Given the description of an element on the screen output the (x, y) to click on. 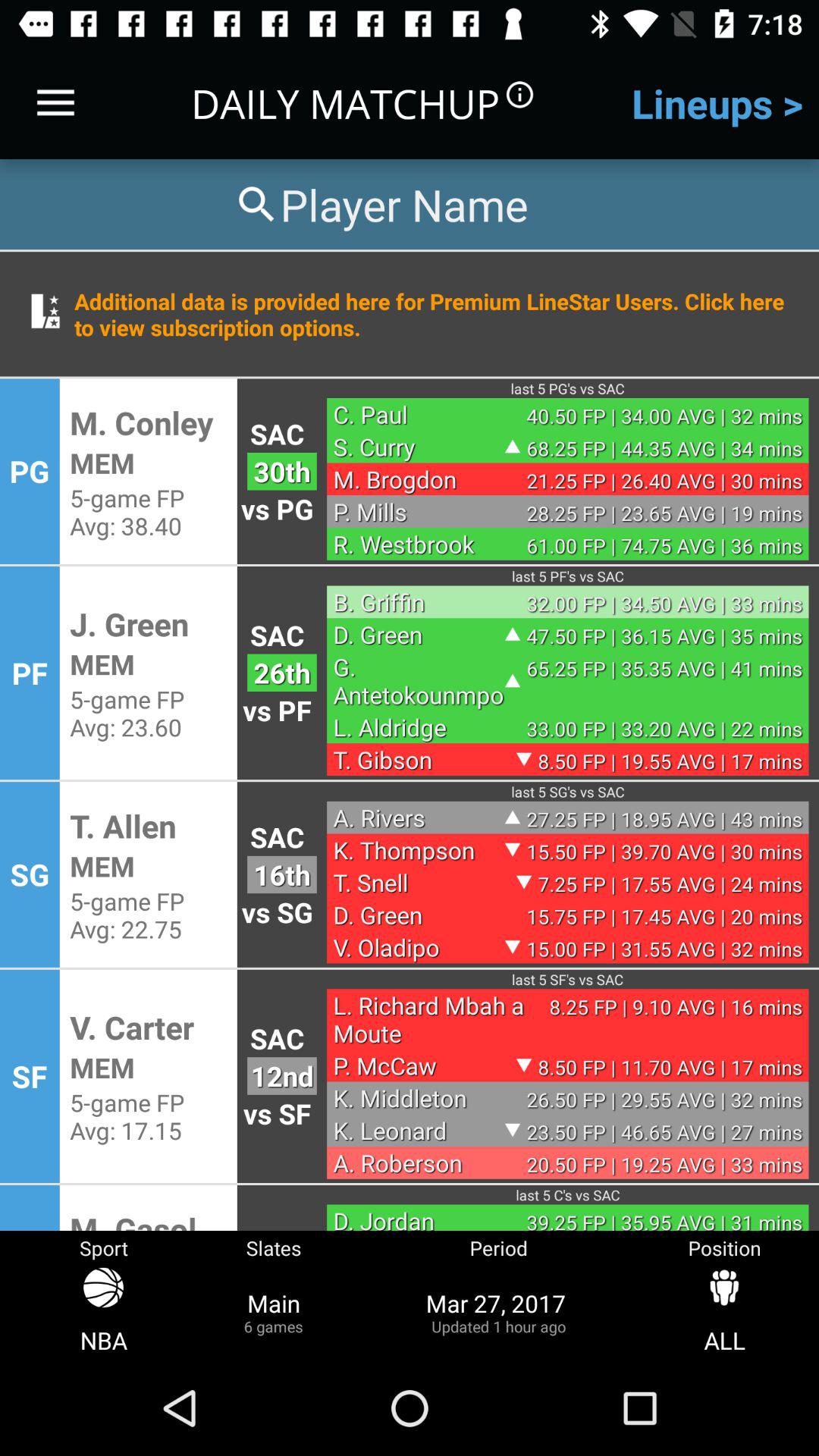
click the item above vs pf (281, 672)
